Given the description of an element on the screen output the (x, y) to click on. 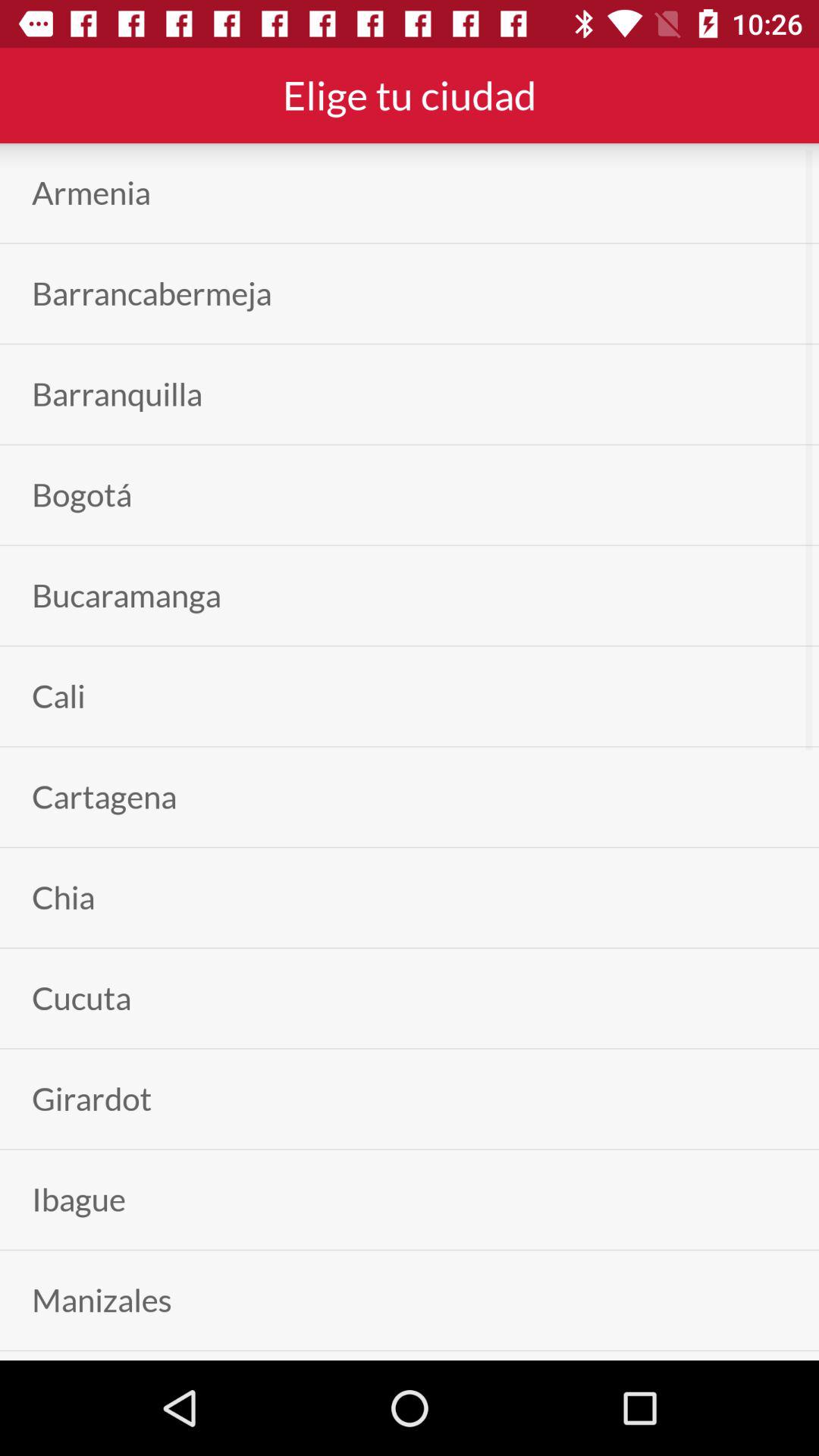
press the girardot app (91, 1099)
